Given the description of an element on the screen output the (x, y) to click on. 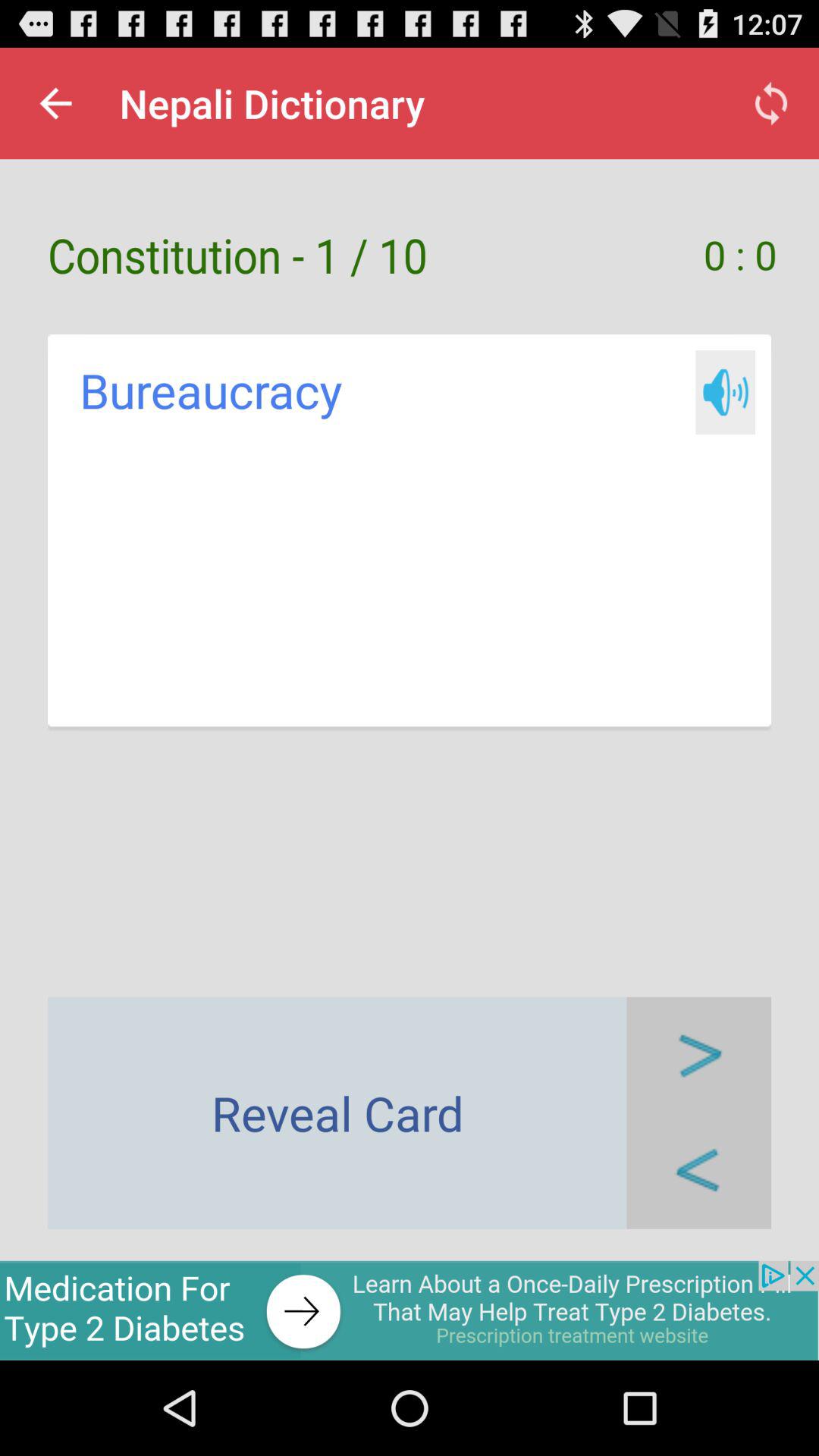
go to advertisement page (409, 1310)
